Given the description of an element on the screen output the (x, y) to click on. 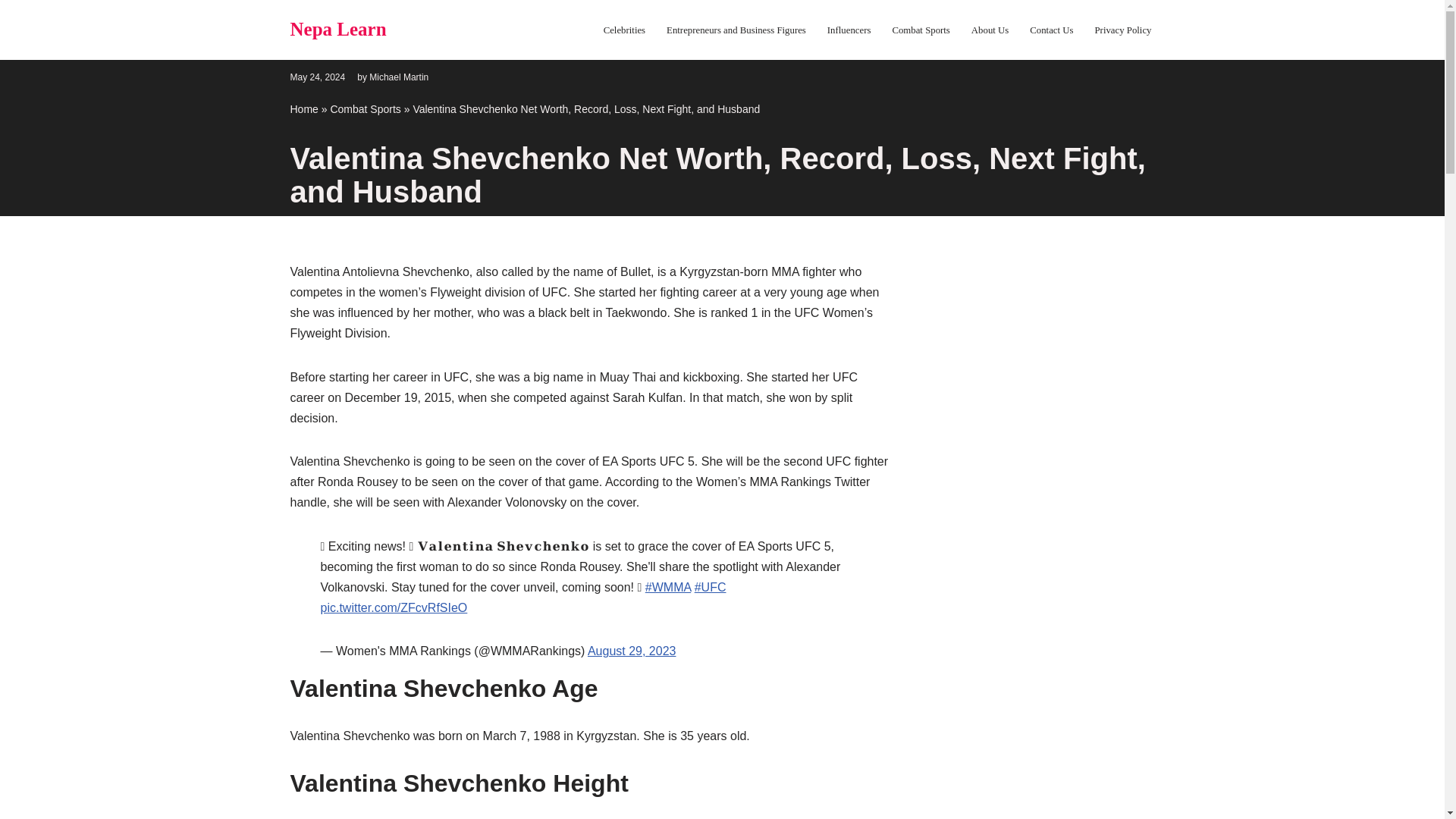
Contact Us (1051, 29)
August 29, 2023 (632, 650)
Privacy Policy (1122, 29)
Skip to content (11, 31)
Michael Martin (398, 76)
Home (303, 109)
Entrepreneurs and Business Figures (736, 29)
Combat Sports (920, 29)
Posts by Michael Martin (398, 76)
Combat Sports (365, 109)
